Given the description of an element on the screen output the (x, y) to click on. 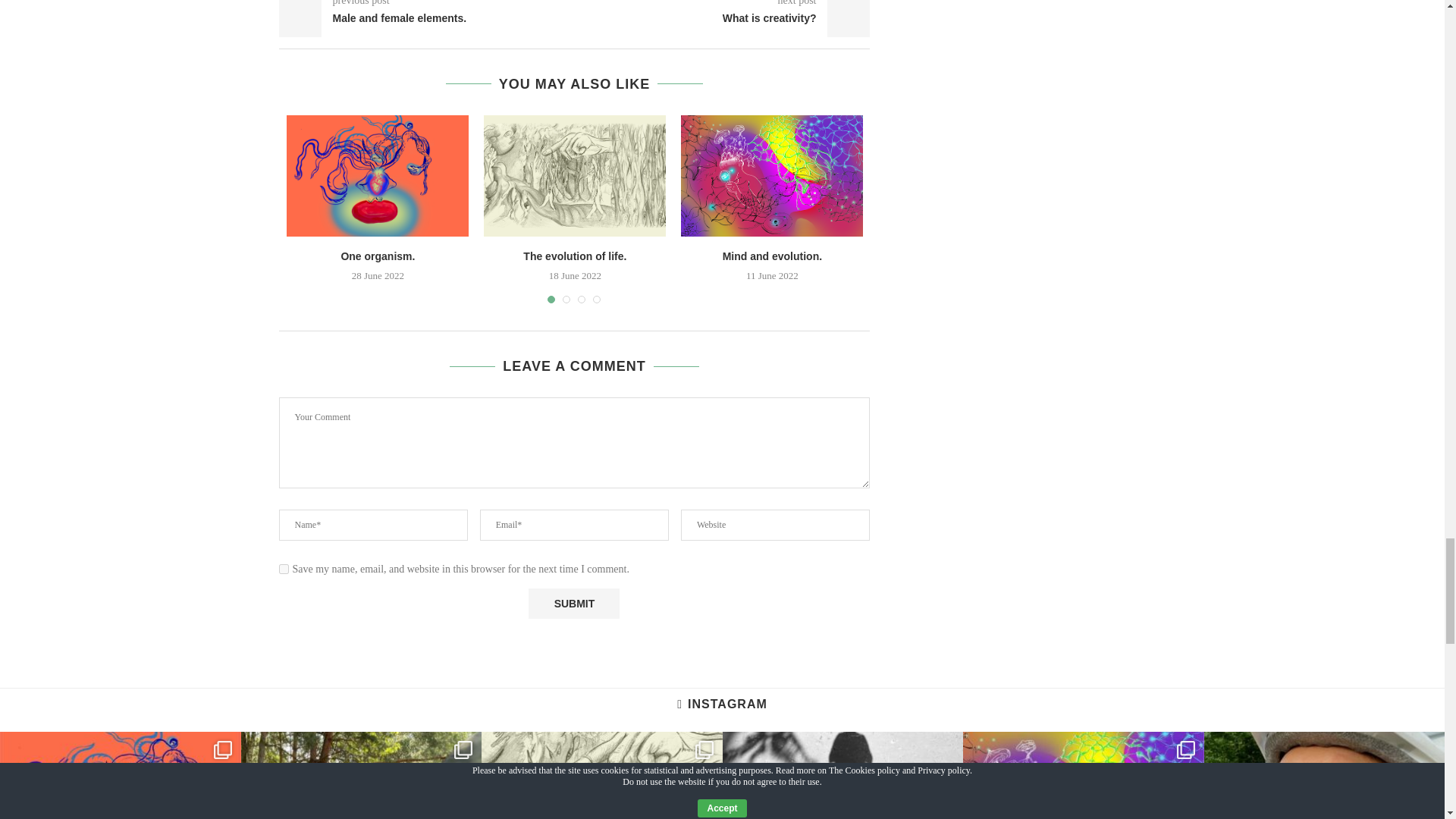
Submit (574, 603)
The evolution of life. (574, 175)
Mind and evolution. (772, 175)
yes (283, 569)
One organism. (377, 175)
